Given the description of an element on the screen output the (x, y) to click on. 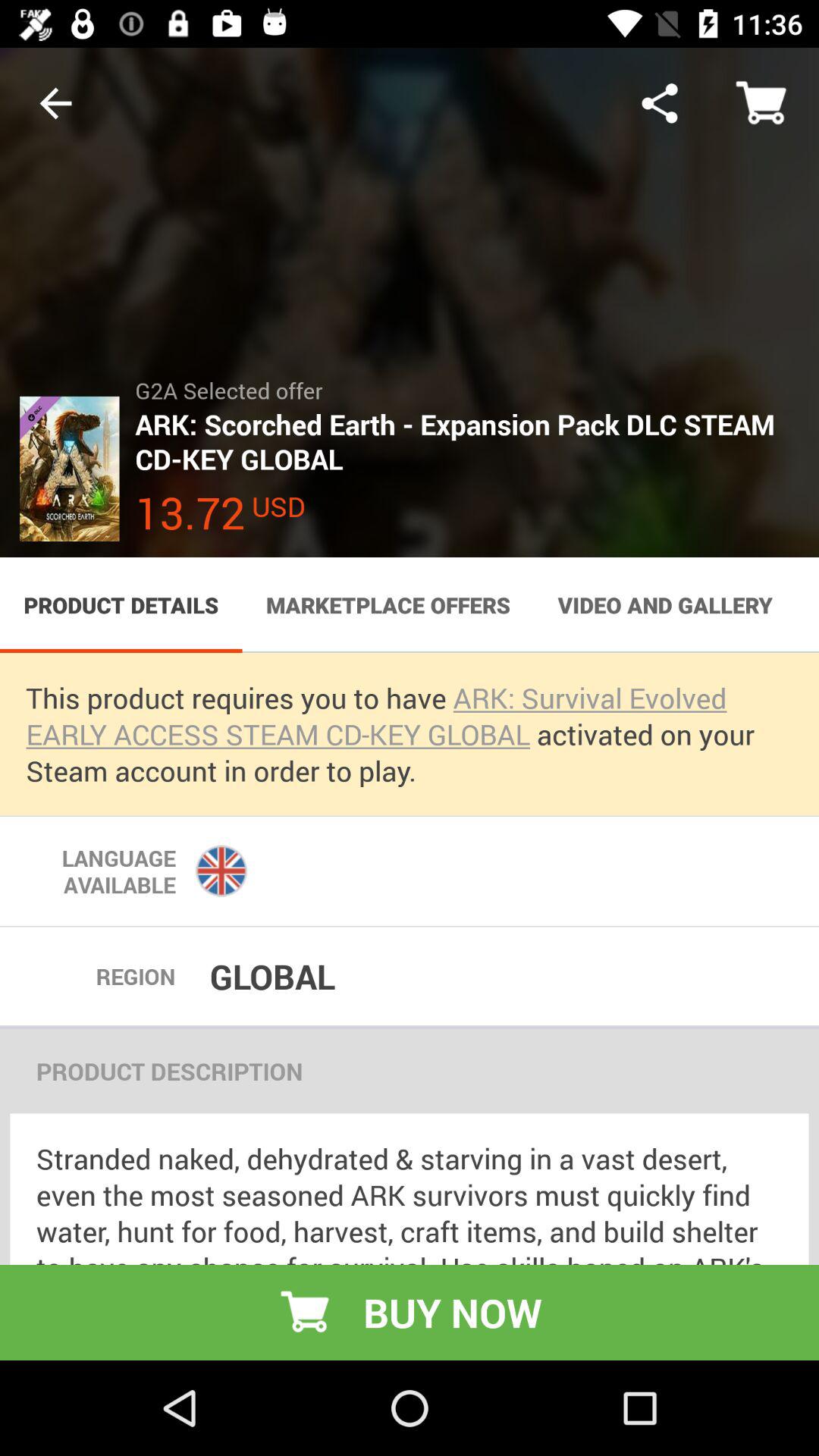
choose the icon above language available (409, 733)
